Given the description of an element on the screen output the (x, y) to click on. 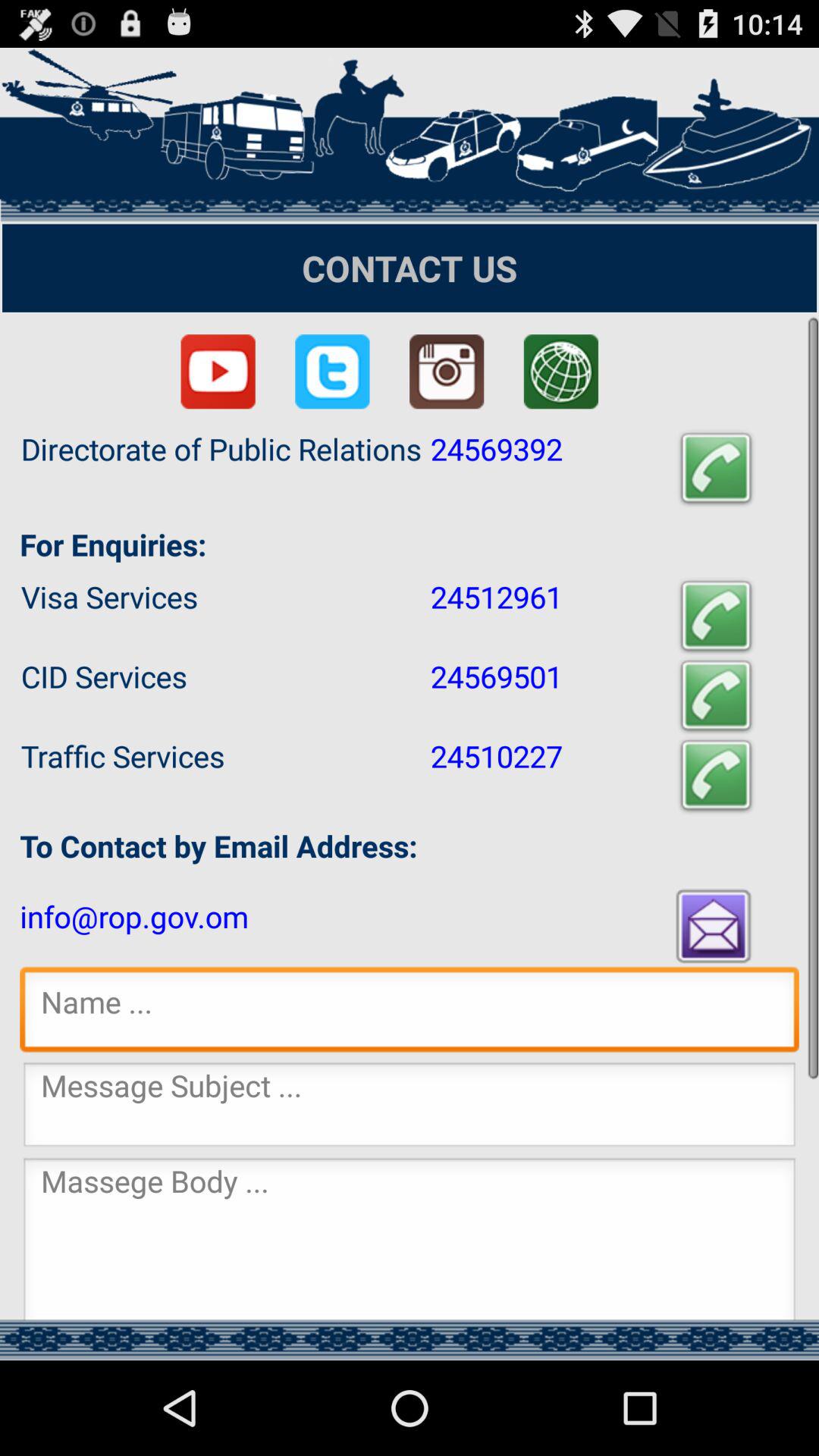
call cid services (716, 695)
